Given the description of an element on the screen output the (x, y) to click on. 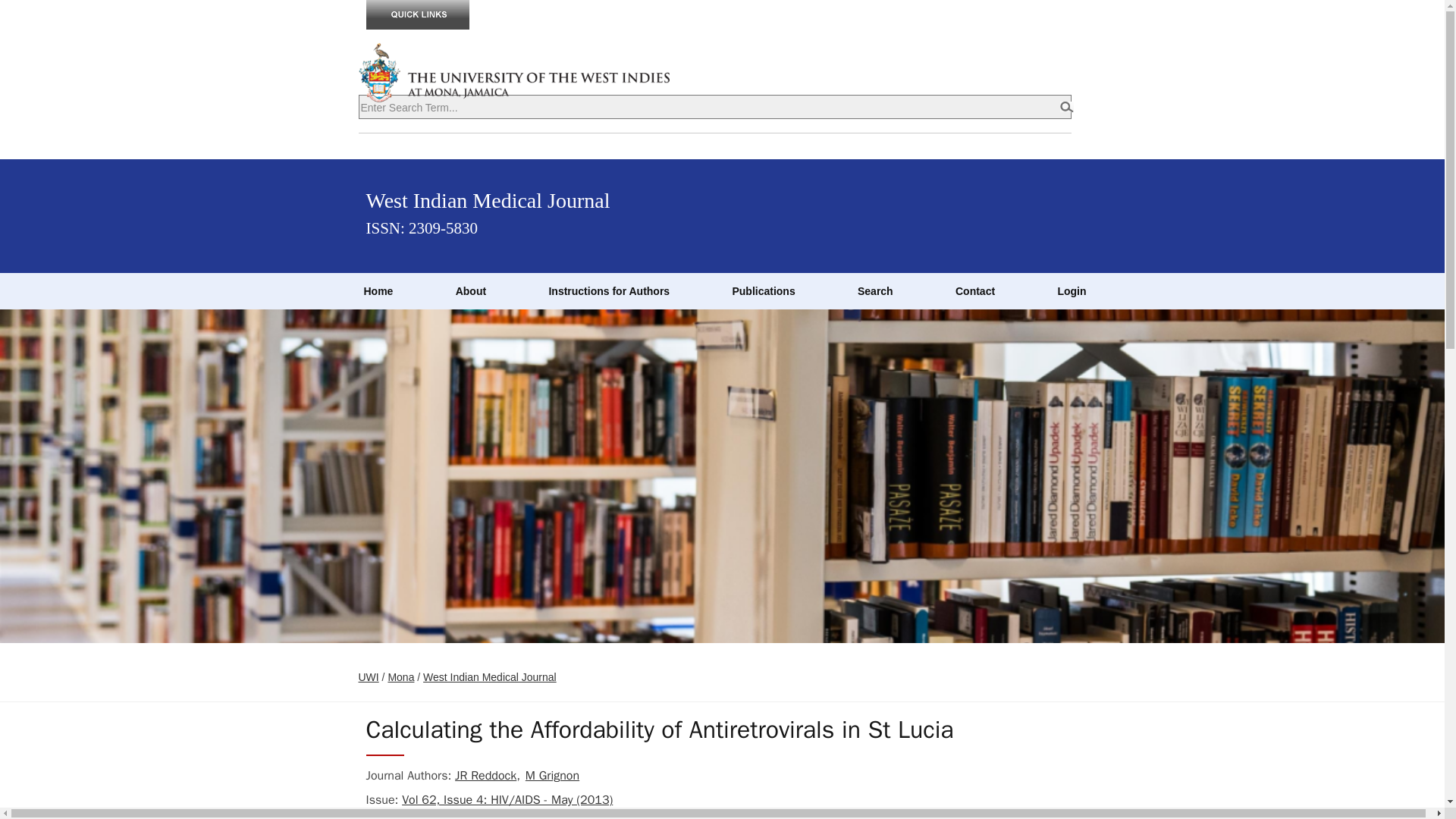
Go to our homepage (378, 291)
About (470, 291)
